Given the description of an element on the screen output the (x, y) to click on. 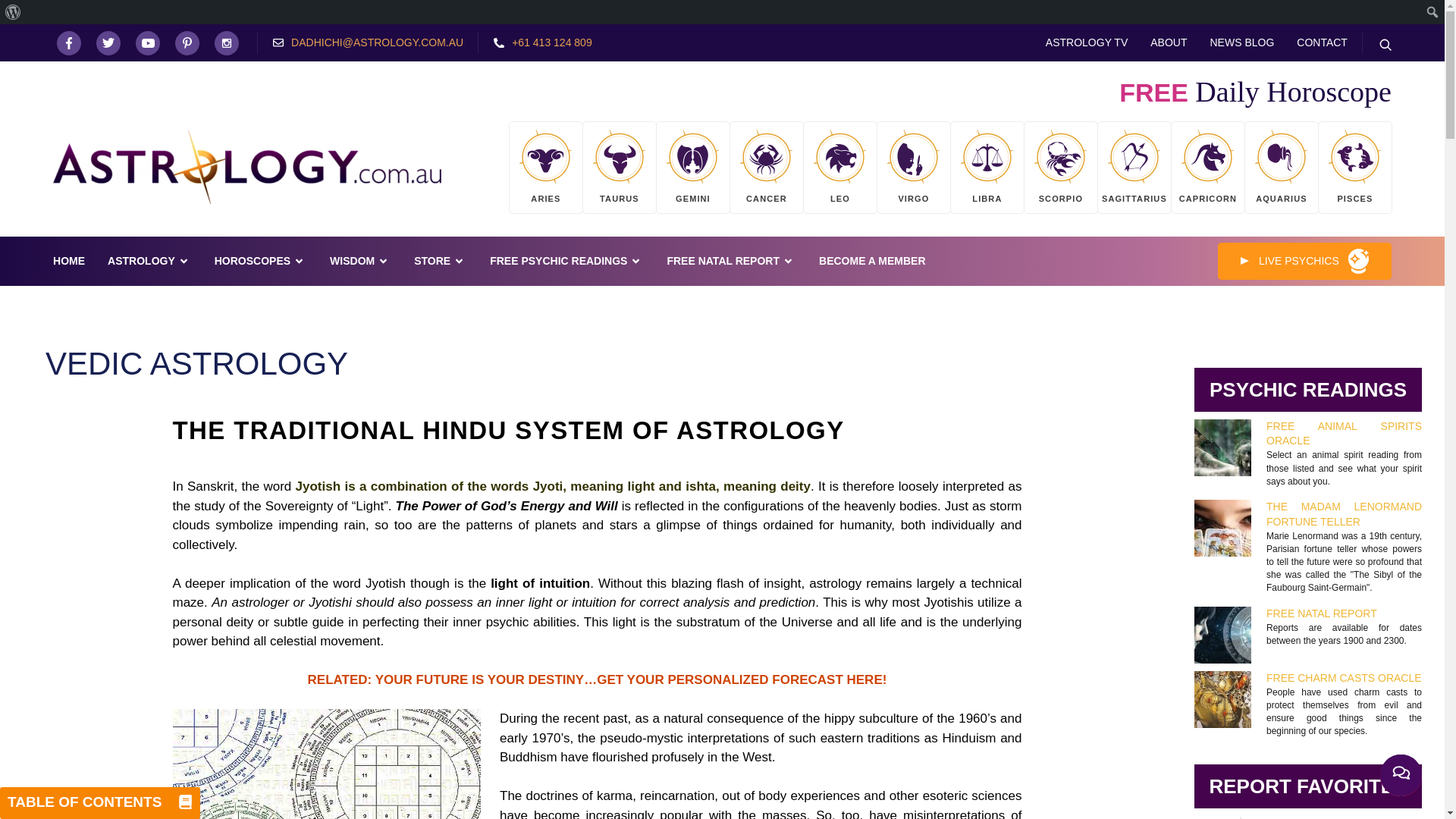
CONTACT (1321, 42)
ABOUT (1168, 42)
ASTROLOGY TV (1085, 42)
ASTROLOGY (149, 260)
HOME (69, 260)
NEWS BLOG (1241, 42)
Need help? Contact us with your favorite way. (1401, 775)
